Given the description of an element on the screen output the (x, y) to click on. 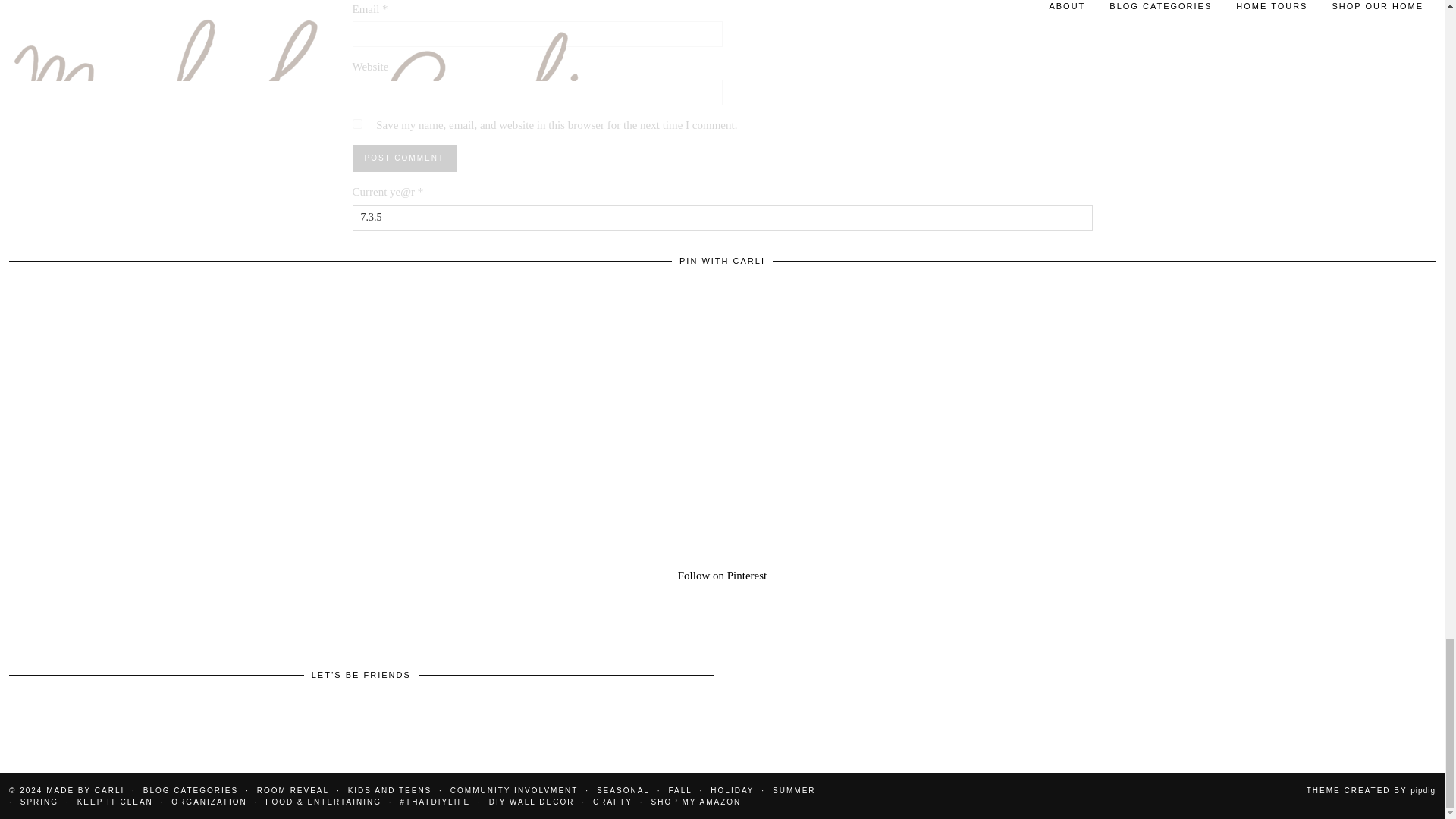
yes (356, 123)
Post Comment (403, 157)
7.3.5 (722, 217)
